Given the description of an element on the screen output the (x, y) to click on. 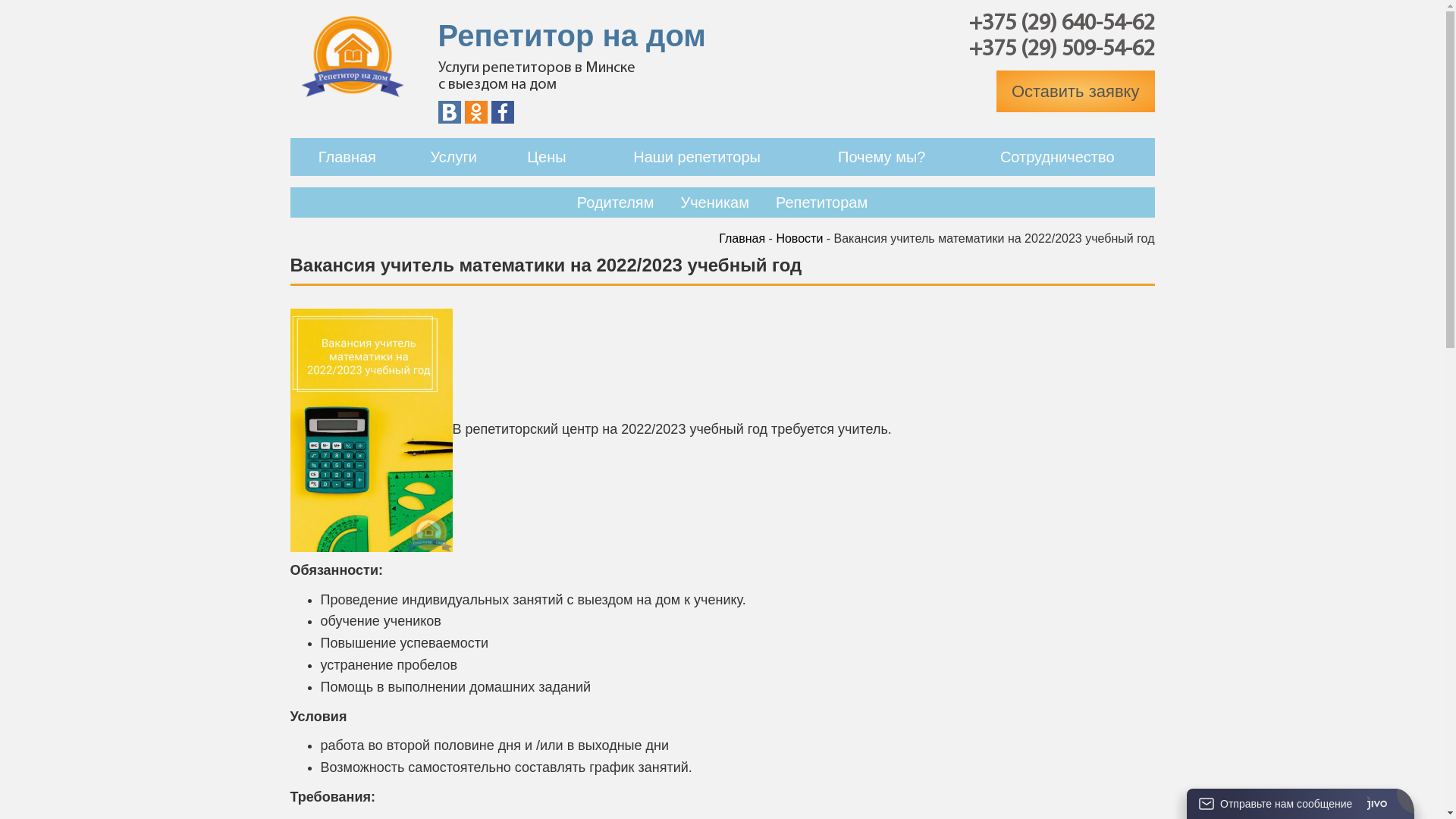
+375 (29) 509-54-62 Element type: text (1061, 49)
+375 (29) 640-54-62 Element type: text (1061, 23)
